Given the description of an element on the screen output the (x, y) to click on. 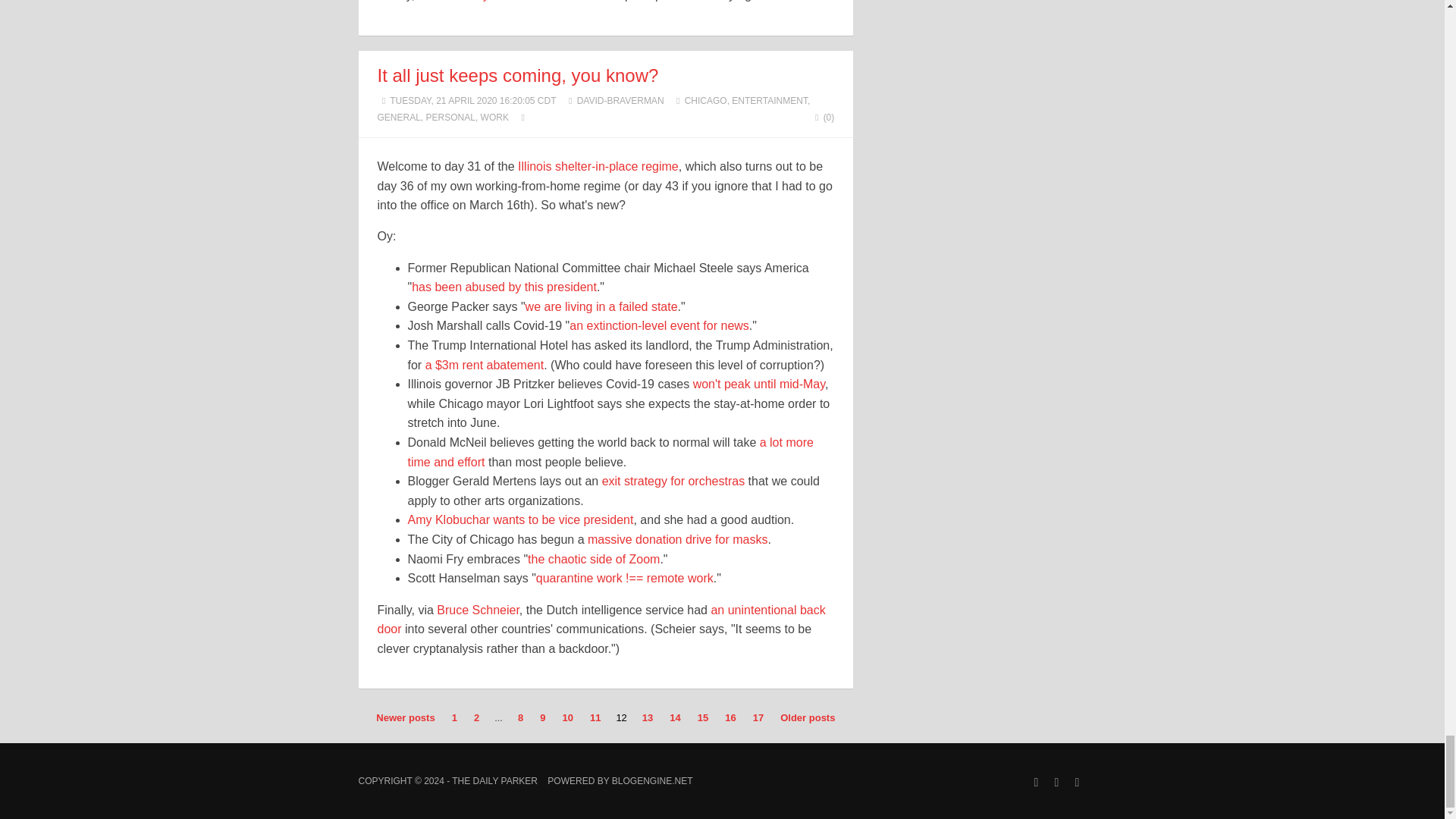
Open a map of the location where this post was written (522, 117)
